Given the description of an element on the screen output the (x, y) to click on. 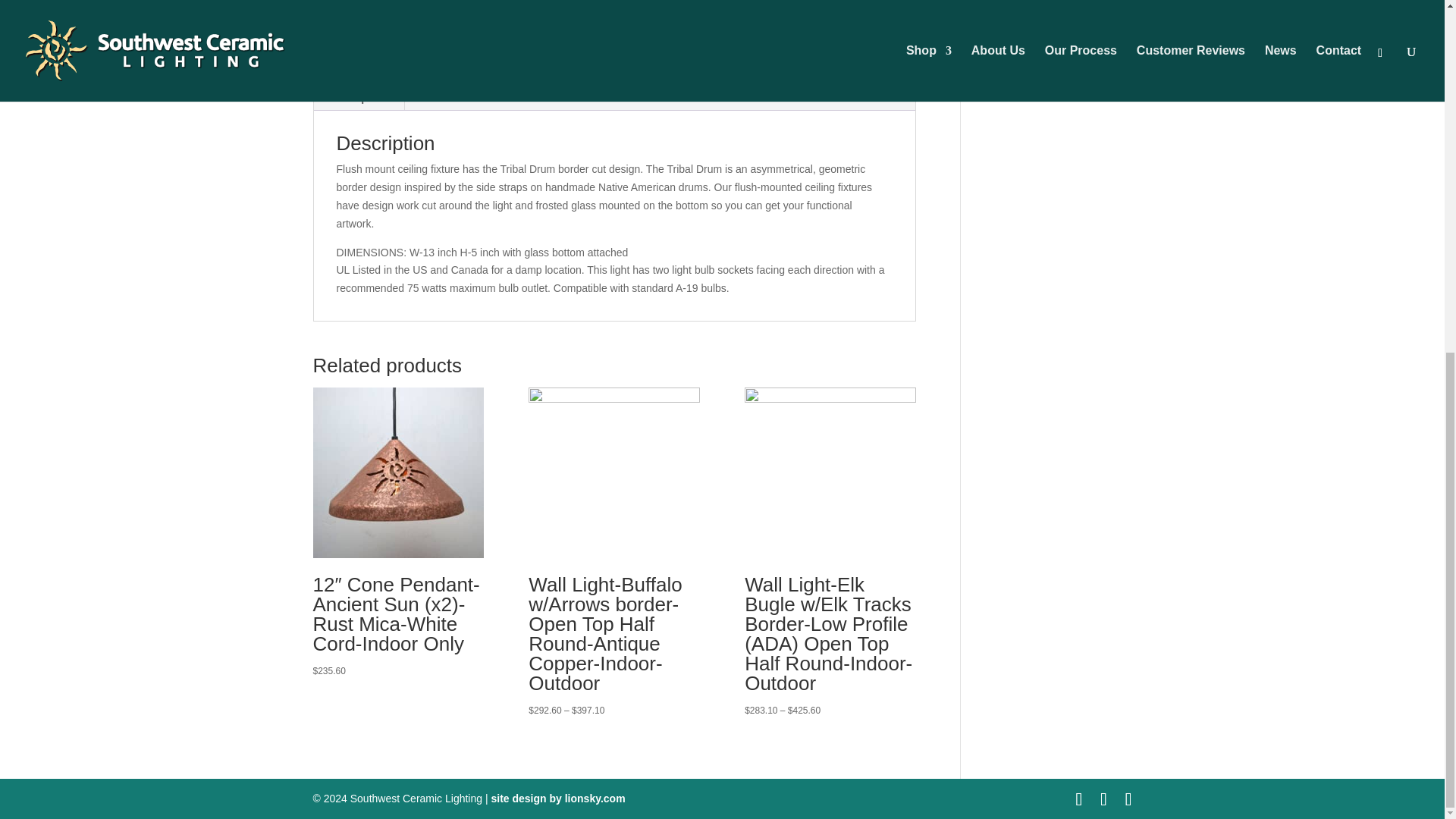
southwestern style (766, 12)
wall sconces (756, 21)
Description (358, 97)
southwestern lights (671, 12)
wall lights (839, 12)
santa fe style (687, 0)
